Given the description of an element on the screen output the (x, y) to click on. 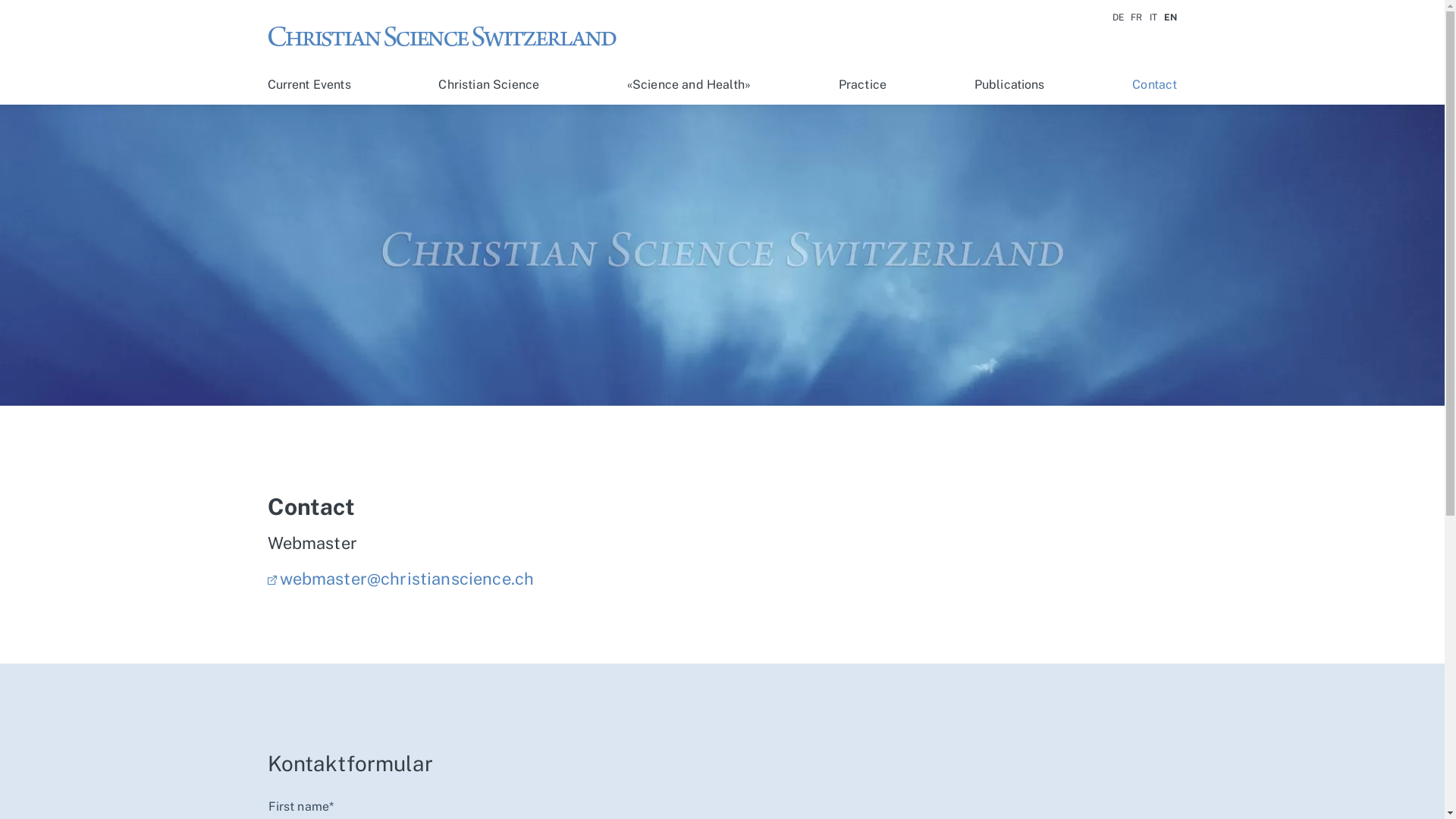
Practice Element type: text (862, 84)
Publications Element type: text (1009, 84)
To the homepage of Christian Science Element type: hover (448, 35)
FR Element type: text (1136, 17)
DE Element type: text (1117, 17)
IT Element type: text (1153, 17)
webmaster@christianscience.ch Element type: text (399, 578)
Current Events Element type: text (308, 84)
Christian Science Element type: text (488, 84)
